Given the description of an element on the screen output the (x, y) to click on. 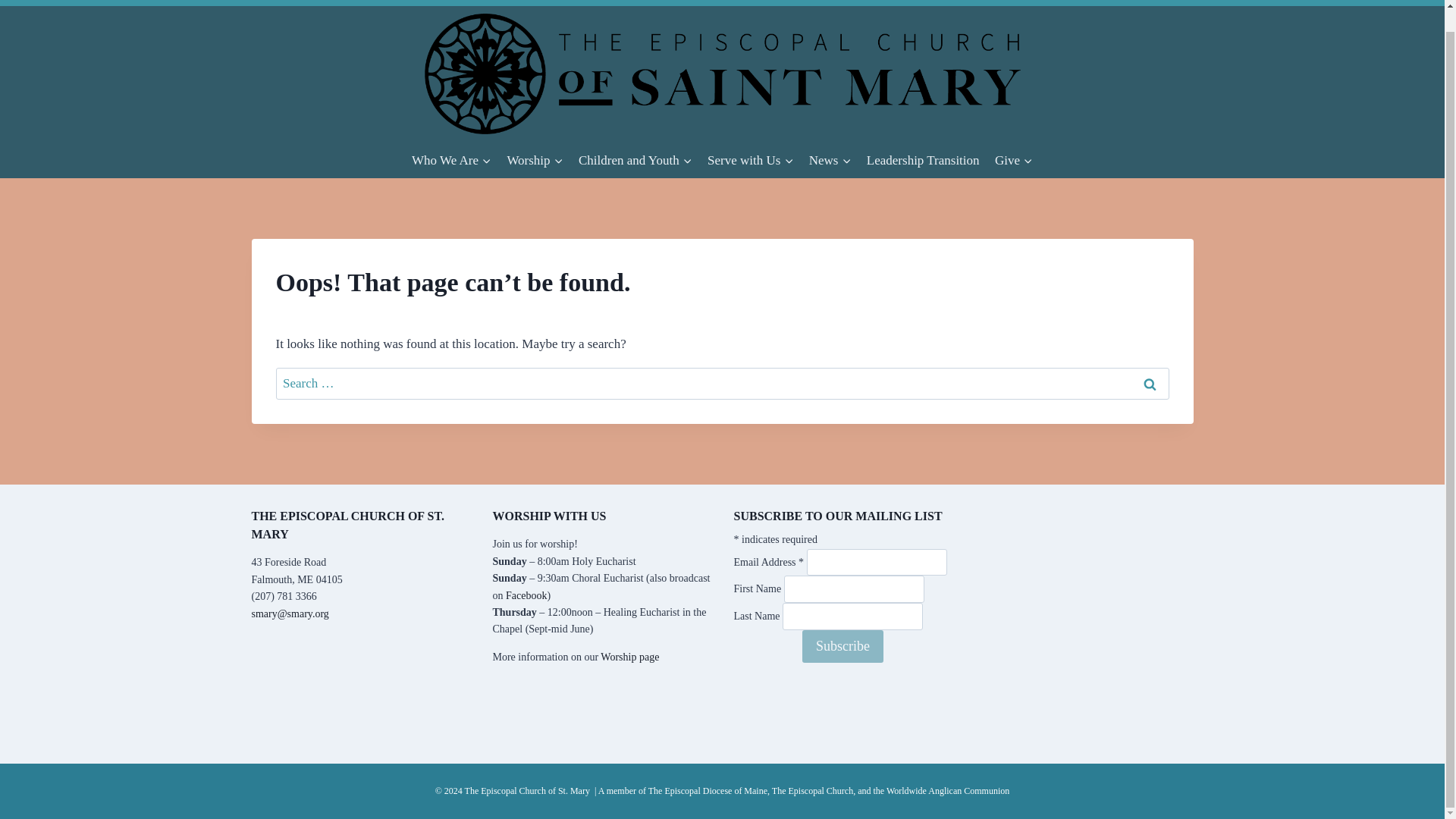
Subscribe (842, 645)
Serve with Us (751, 159)
Search (1150, 383)
Who We Are (451, 159)
Search (1150, 383)
Children and Youth (635, 159)
Worship (534, 159)
